Given the description of an element on the screen output the (x, y) to click on. 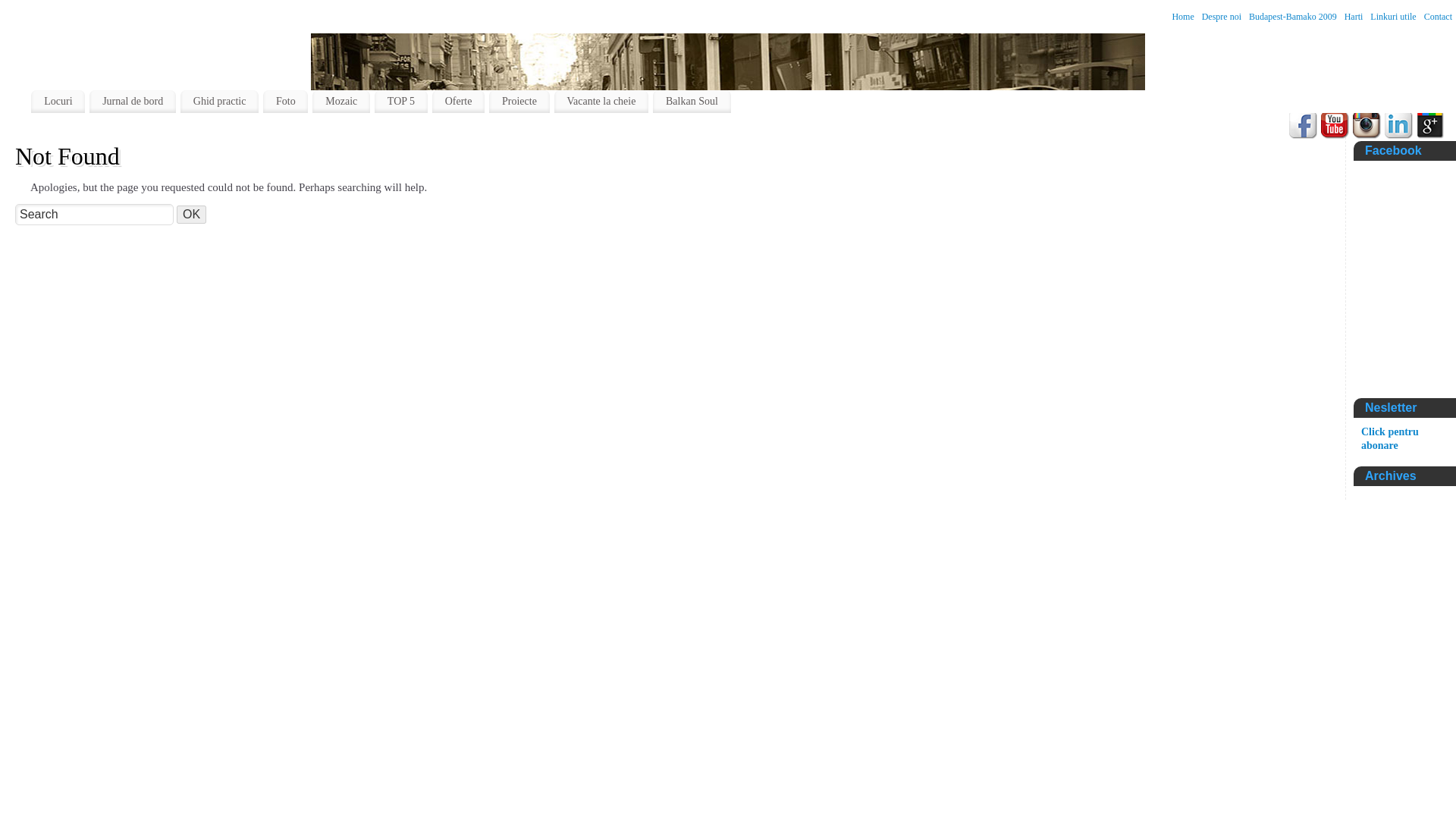
Oferte (458, 101)
Click pentru abonare (1389, 438)
Vacante la cheie (601, 101)
Despre noi (1221, 16)
Ghid practic (219, 101)
Mozaic (341, 101)
Locuri (57, 101)
Proiecte (518, 101)
Jurnal de bord (132, 101)
Home (1182, 16)
